Given the description of an element on the screen output the (x, y) to click on. 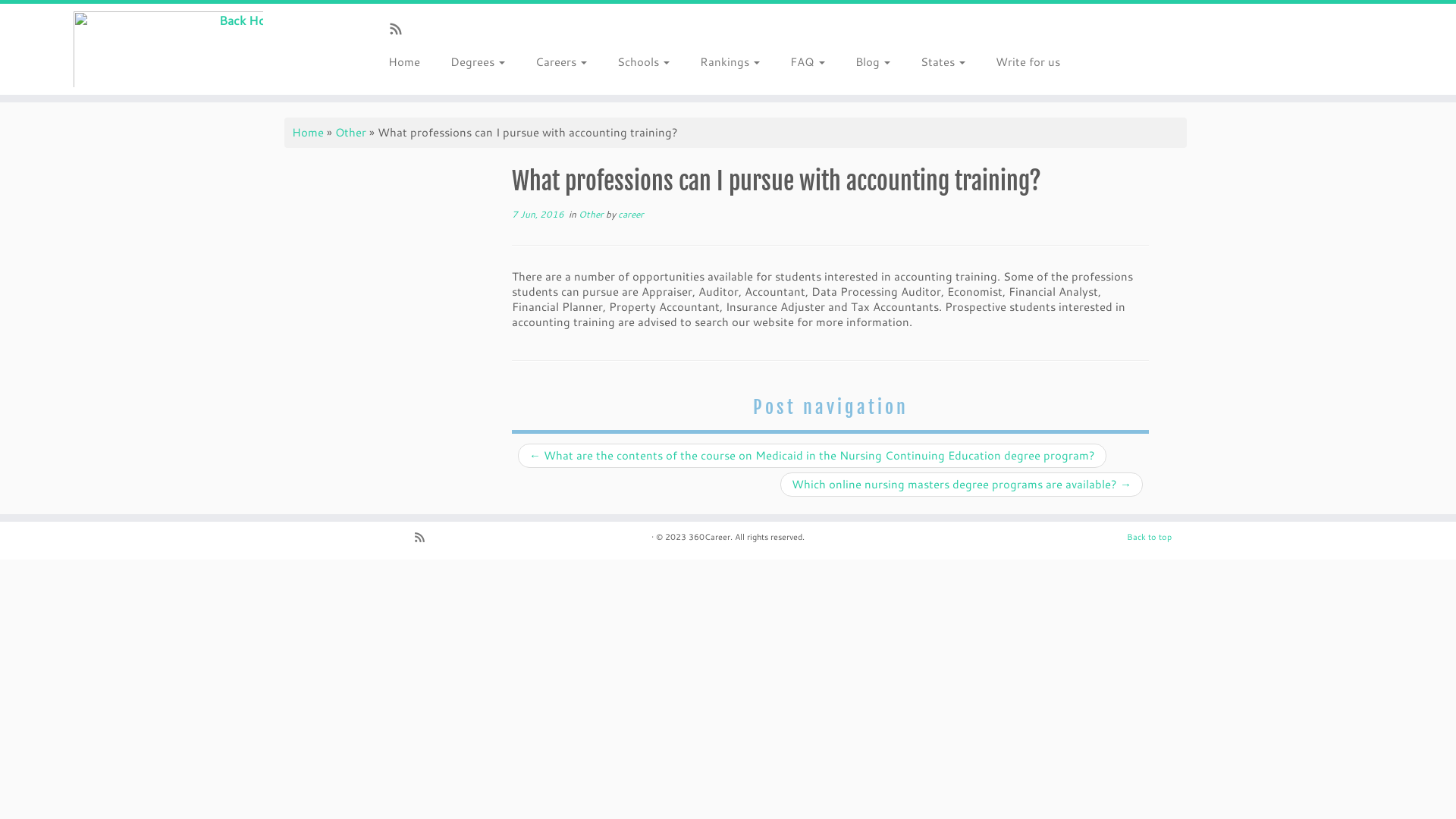
7 Jun, 2016 Element type: text (537, 213)
Home Element type: text (409, 61)
Write for us Element type: text (1020, 61)
Back to top Element type: text (1148, 536)
Other Element type: text (591, 213)
Schools Element type: text (643, 61)
career Element type: text (630, 213)
Other Element type: text (350, 132)
FAQ Element type: text (807, 61)
Blog Element type: text (872, 61)
Your Complete Career Guide |  Element type: hover (167, 49)
Home Element type: text (307, 132)
Rankings Element type: text (729, 61)
Careers Element type: text (561, 61)
Subscribe to my rss feed Element type: hover (424, 538)
360Career. All rights reserved. Element type: text (746, 536)
Subscribe to my rss feed Element type: hover (400, 30)
Degrees Element type: text (477, 61)
States Element type: text (942, 61)
